Given the description of an element on the screen output the (x, y) to click on. 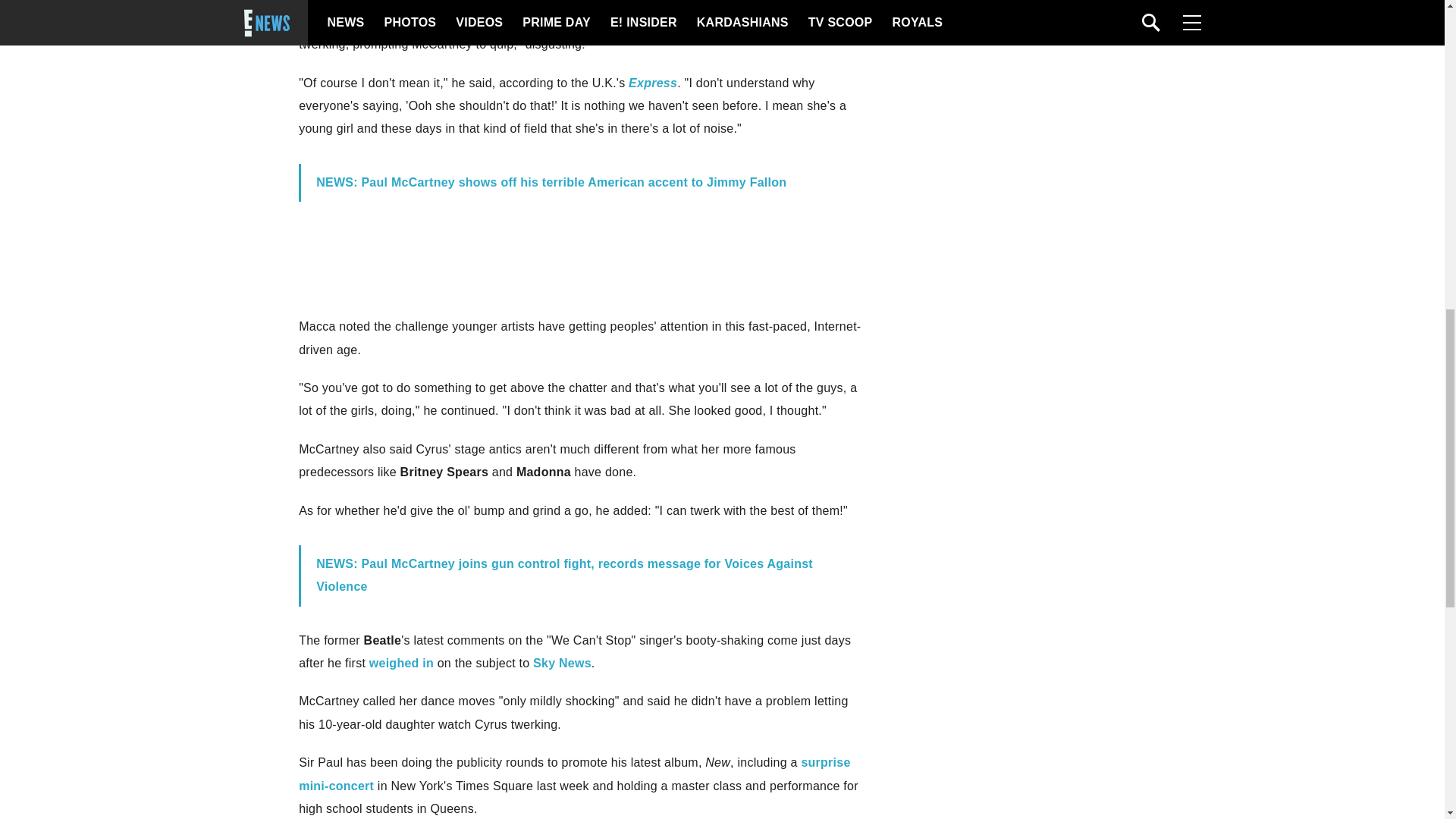
Express (652, 82)
weighed in (401, 662)
surprise mini-concert (574, 773)
Sky News (561, 662)
